Given the description of an element on the screen output the (x, y) to click on. 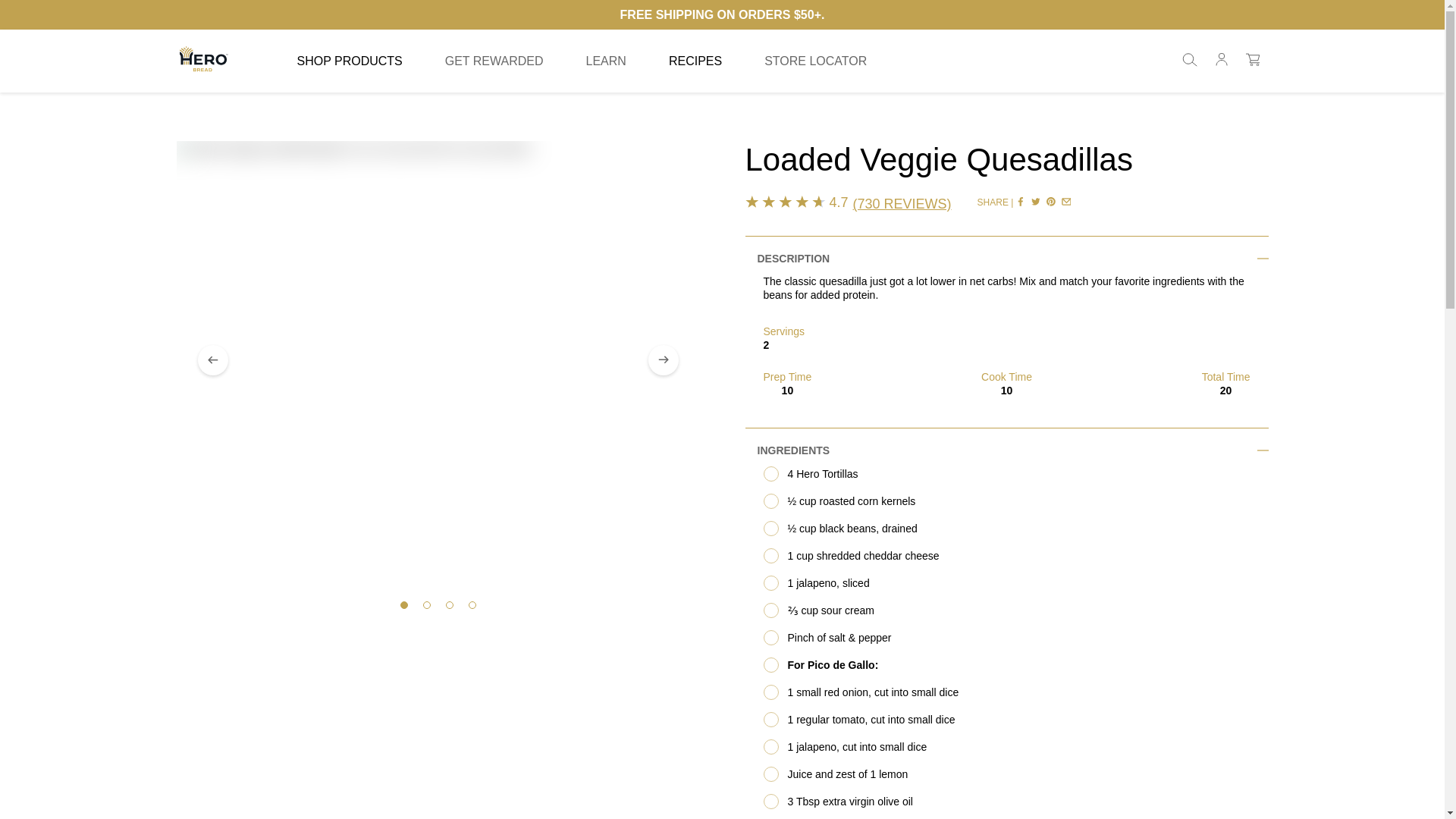
10 (769, 746)
3 (769, 555)
RECIPES (694, 60)
8 (769, 692)
2 (769, 528)
1 (769, 500)
11 (769, 774)
GET REWARDED (493, 60)
SHOP PRODUCTS (349, 60)
STORE LOCATOR (815, 60)
